Given the description of an element on the screen output the (x, y) to click on. 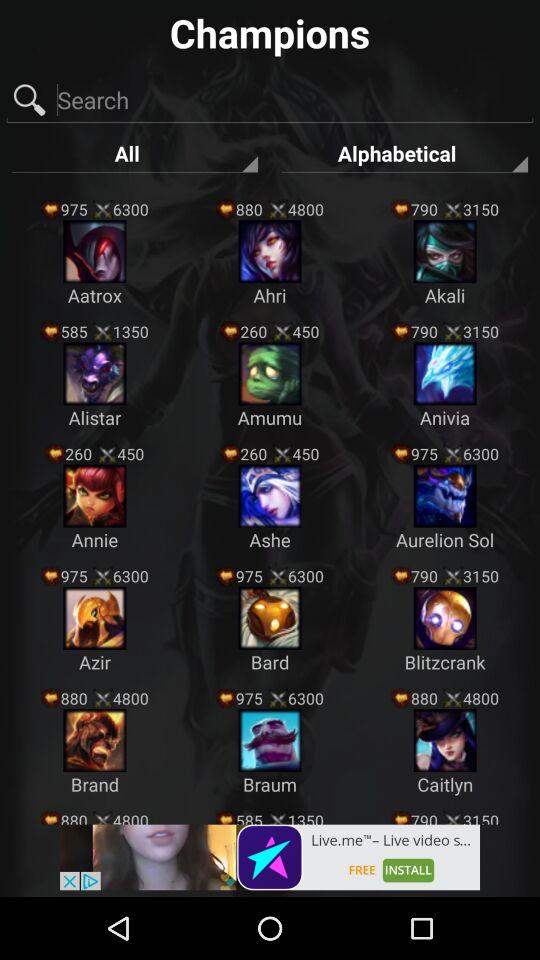
search image (269, 100)
